Given the description of an element on the screen output the (x, y) to click on. 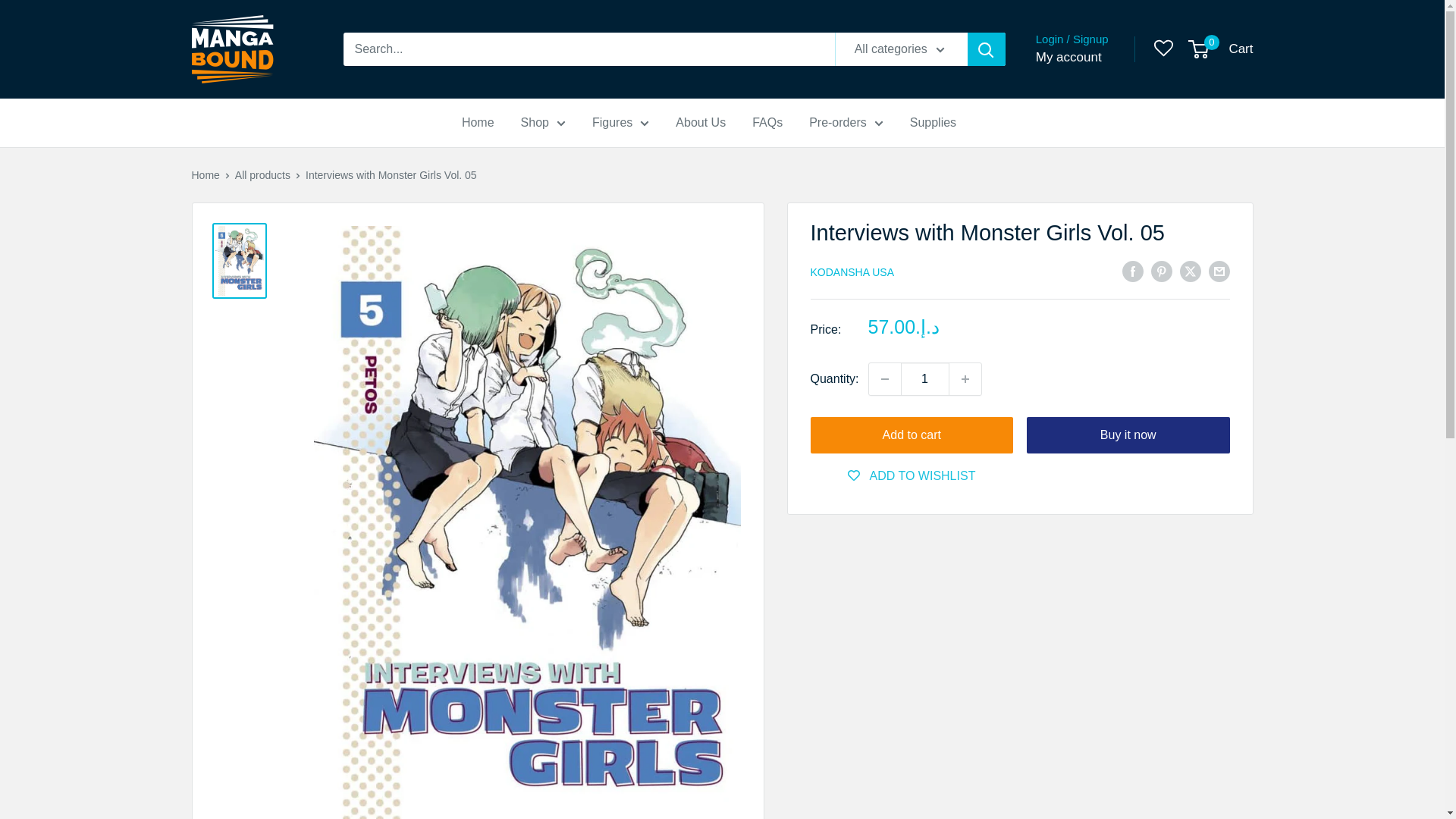
Increase quantity by 1 (965, 378)
1 (925, 378)
Decrease quantity by 1 (885, 378)
